Given the description of an element on the screen output the (x, y) to click on. 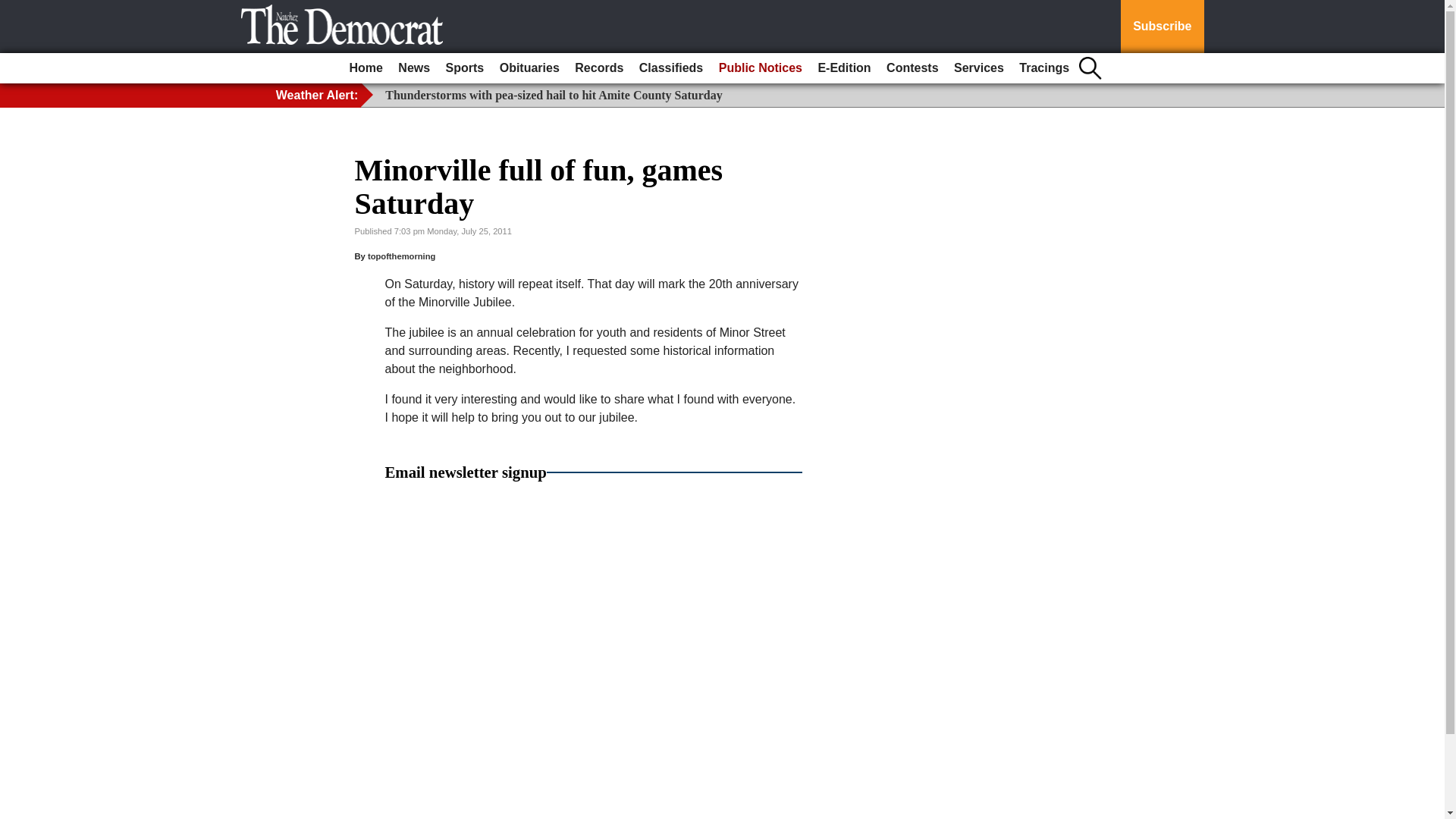
Records (598, 68)
Sports (464, 68)
News (413, 68)
Go (13, 9)
Contests (911, 68)
Home (365, 68)
Classifieds (671, 68)
Subscribe (1162, 26)
